Given the description of an element on the screen output the (x, y) to click on. 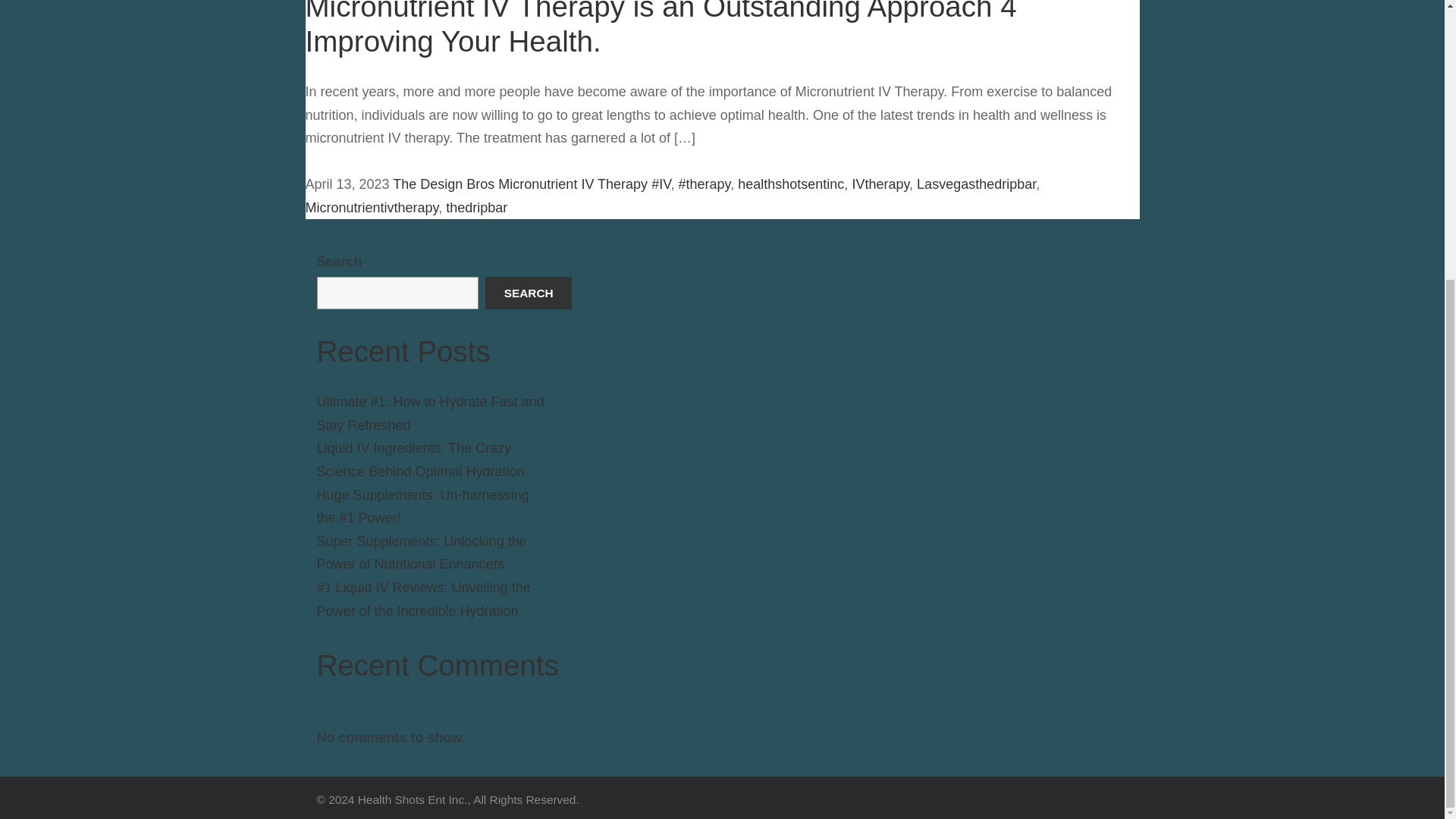
View all posts in IVtherapy (879, 183)
thedripbar (475, 207)
View all posts in Micronutrientivtherapy (371, 207)
IVtherapy (879, 183)
The Design Bros (444, 183)
SEARCH (528, 292)
Posts by The Design Bros (444, 183)
View all posts in healthshotsentinc (791, 183)
View all posts in thedripbar (475, 207)
View all posts in Micronutrient IV Therapy (572, 183)
Micronutrient IV Therapy (572, 183)
healthshotsentinc (791, 183)
